Given the description of an element on the screen output the (x, y) to click on. 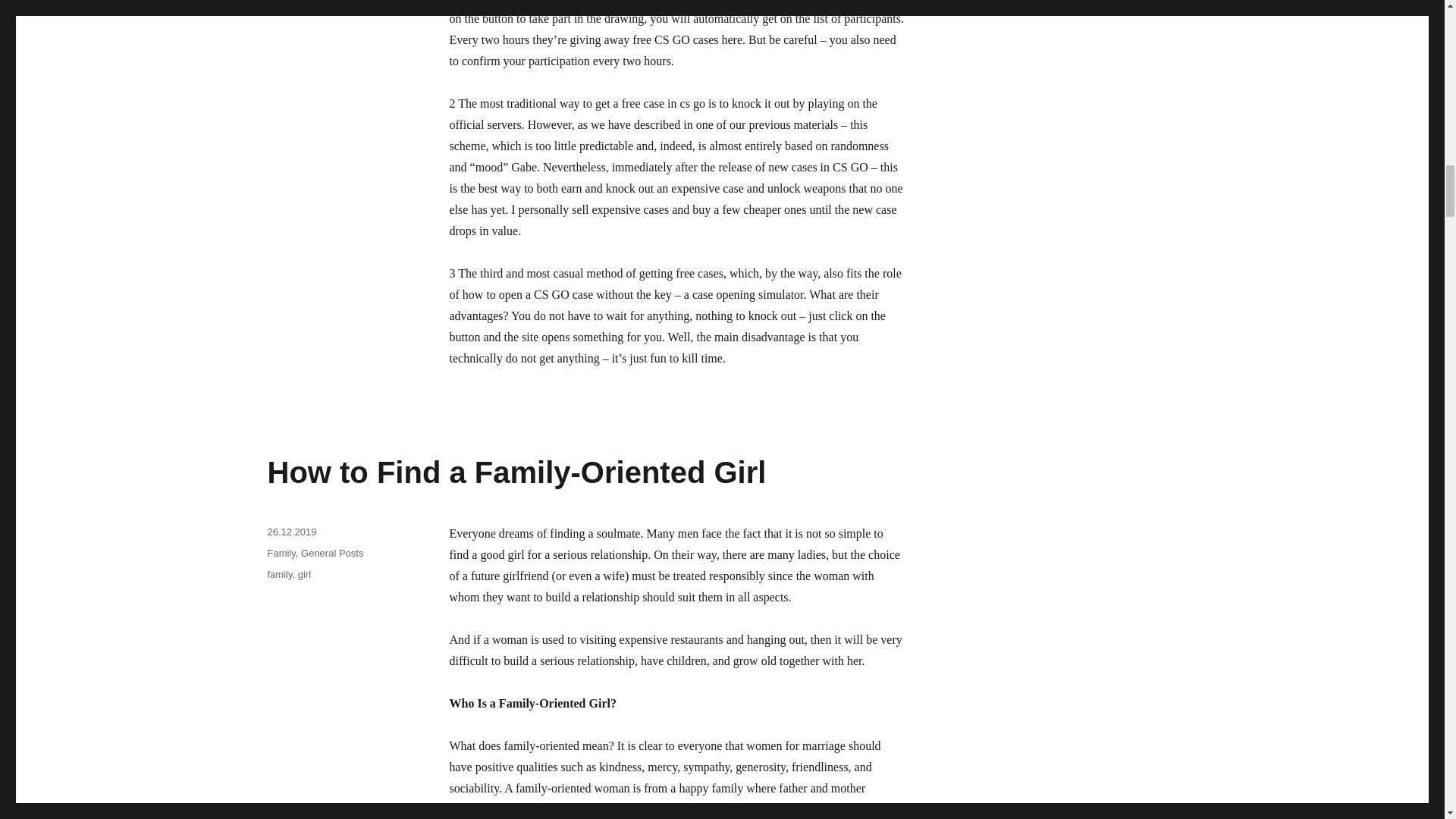
girl (304, 573)
family (279, 573)
How to Find a Family-Oriented Girl (515, 471)
26.12.2019 (290, 531)
General Posts (331, 552)
Family (280, 552)
